Given the description of an element on the screen output the (x, y) to click on. 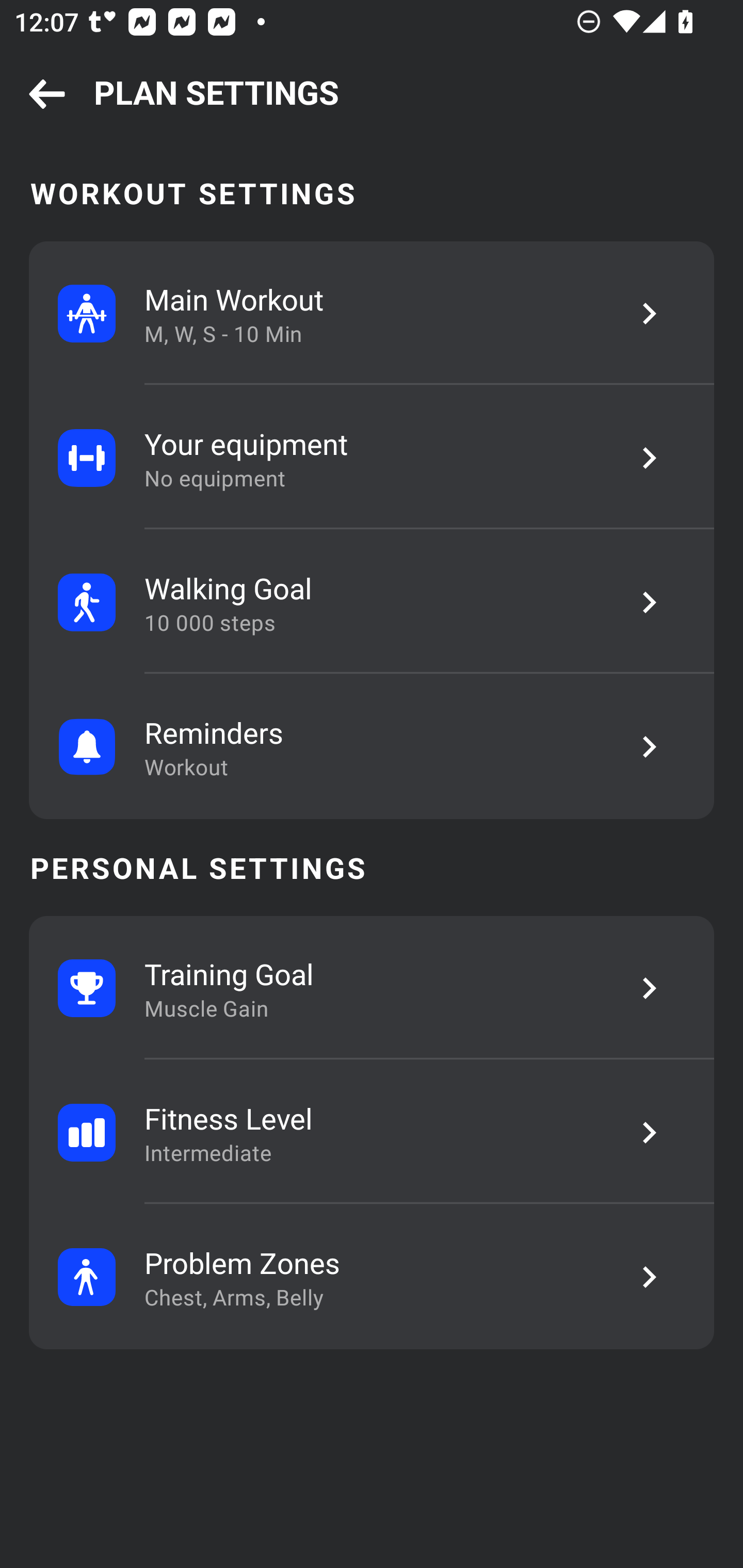
Navigation icon (46, 94)
EQUIPMENT Your equipment No equipment EQUIPMENT (371, 457)
REMINDERS Reminders Workout REMINDERS (371, 746)
